Given the description of an element on the screen output the (x, y) to click on. 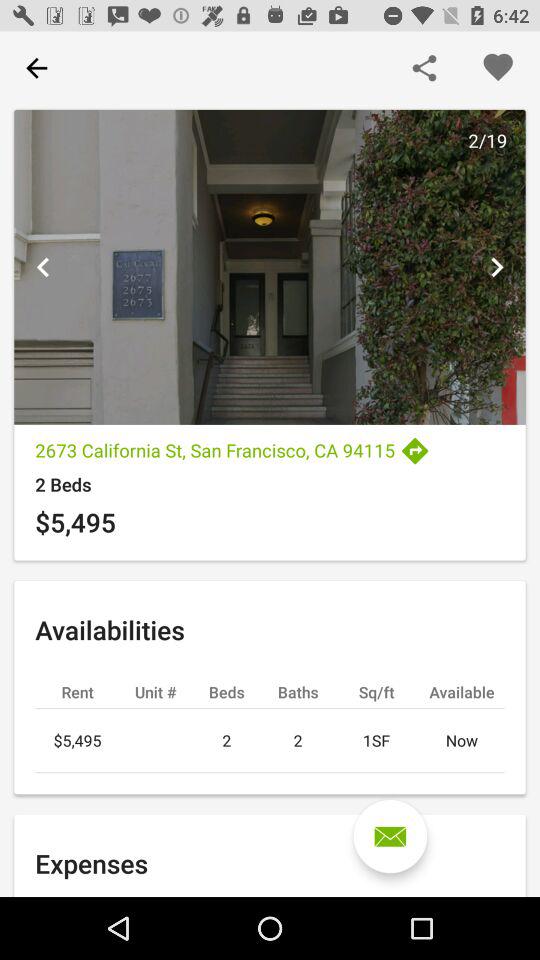
favorite this listing (497, 68)
